Given the description of an element on the screen output the (x, y) to click on. 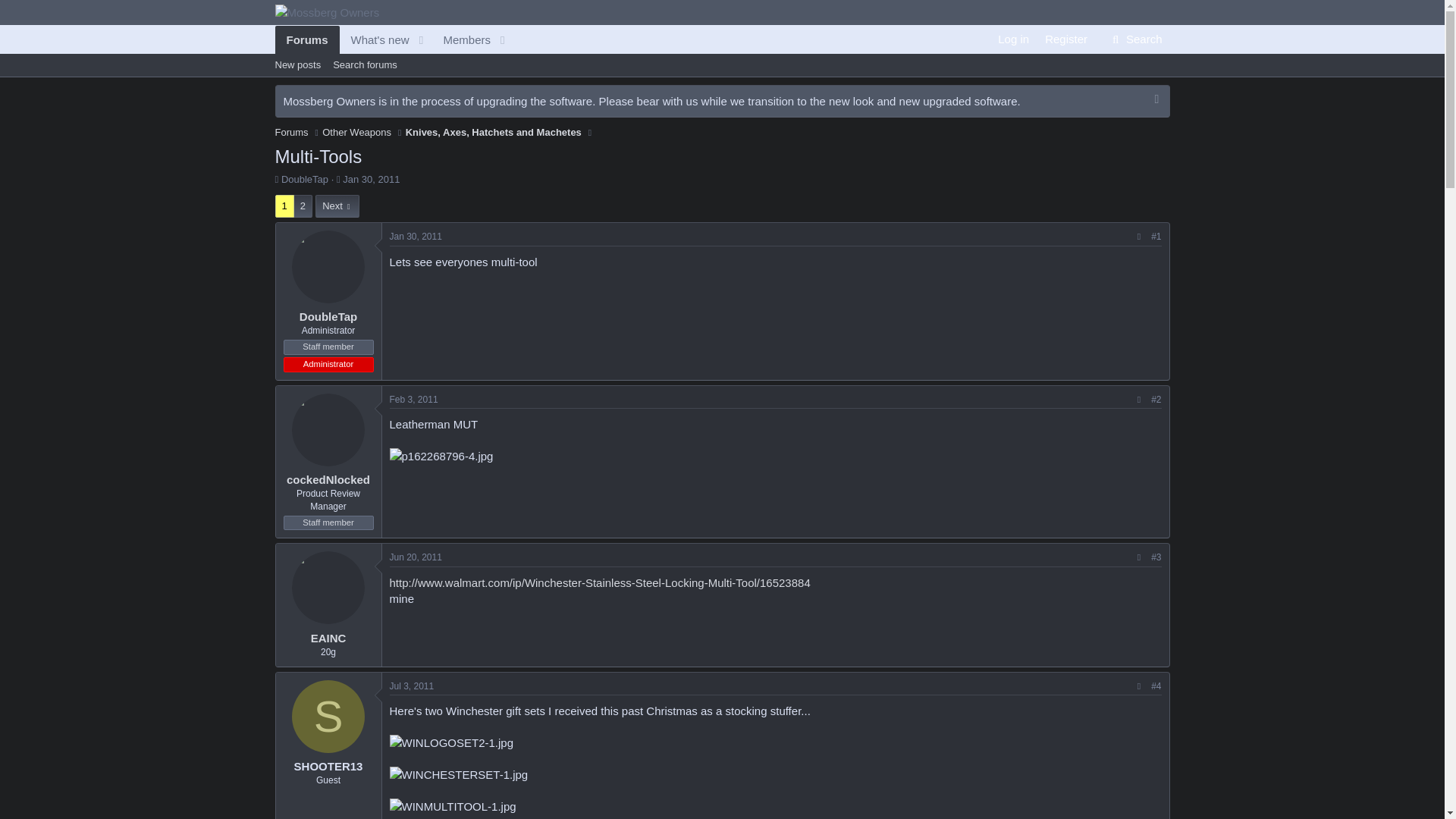
Knives, Axes, Hatchets and Machetes (392, 39)
Members (493, 132)
Forums (461, 39)
Next (392, 39)
WINLOGOSET2-1.jpg (291, 132)
WINMULTITOOL-1.jpg (337, 205)
Jul 3, 2011 at 12:48 PM (451, 742)
